Given the description of an element on the screen output the (x, y) to click on. 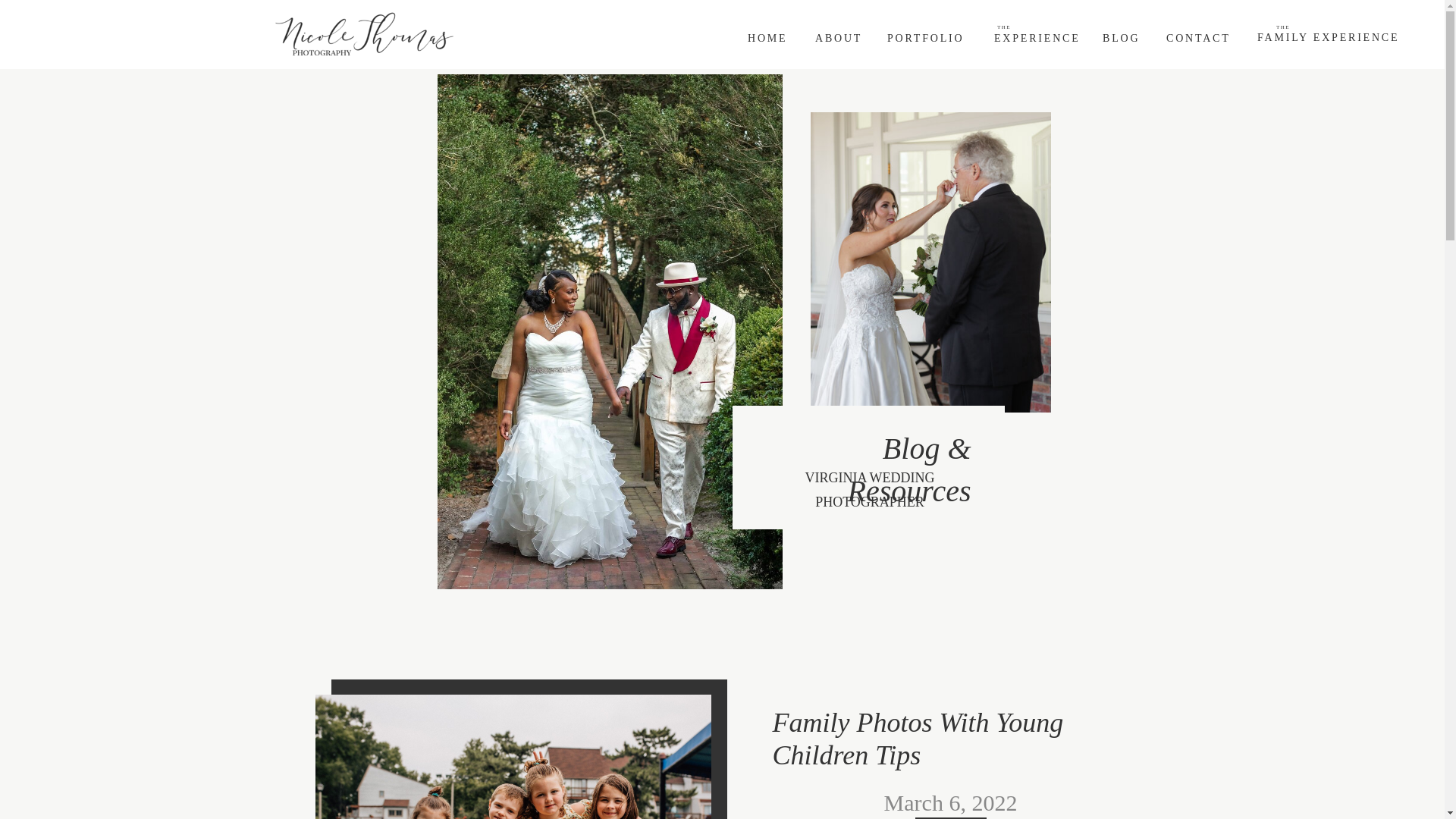
Family Photos With Young Children Tips (916, 738)
THE (1038, 30)
HOME (768, 36)
BLOG (1121, 36)
CONTACT (1198, 36)
EXPERIENCE (1035, 36)
VIRGINIA WEDDING PHOTOGRAPHER (869, 489)
ABOUT (837, 36)
PORTFOLIO (927, 36)
Family Photos With Young Children Tips (513, 756)
FAMILY EXPERIENCE (1325, 36)
THE (1317, 30)
